Given the description of an element on the screen output the (x, y) to click on. 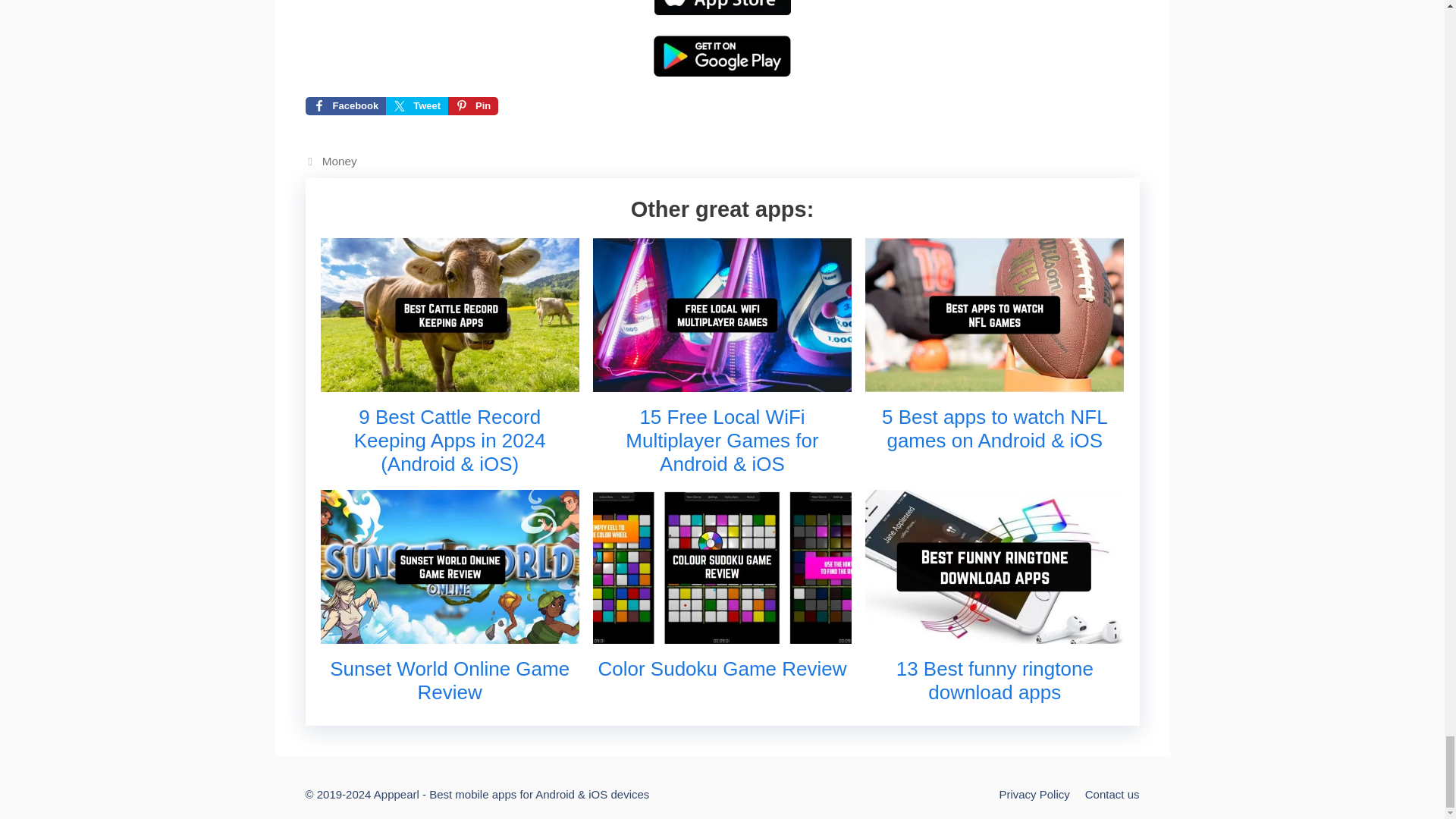
13 Best funny ringtone download apps (994, 632)
Share on Twitter (416, 106)
Sunset World Online Game Review (449, 632)
Color Sudoku Game Review (721, 632)
Share on Pinterest (472, 106)
Share on Facebook (344, 106)
